Given the description of an element on the screen output the (x, y) to click on. 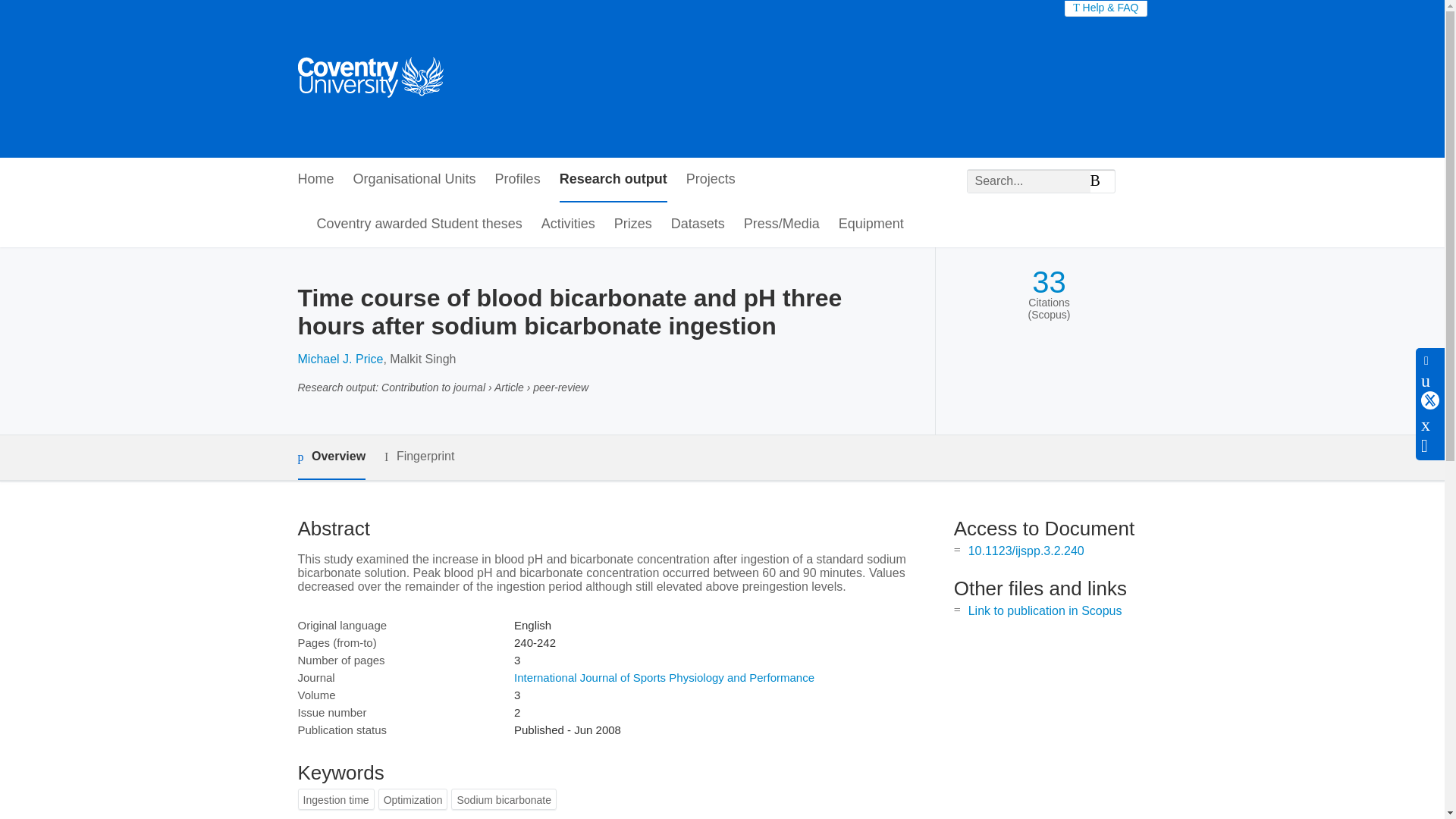
Michael J. Price (339, 358)
Projects (710, 180)
Coventry awarded Student theses (419, 224)
Link to publication in Scopus (1045, 610)
Coventry University Home (369, 78)
Overview (331, 456)
Datasets (698, 224)
Research output (612, 180)
33 (1048, 282)
